Given the description of an element on the screen output the (x, y) to click on. 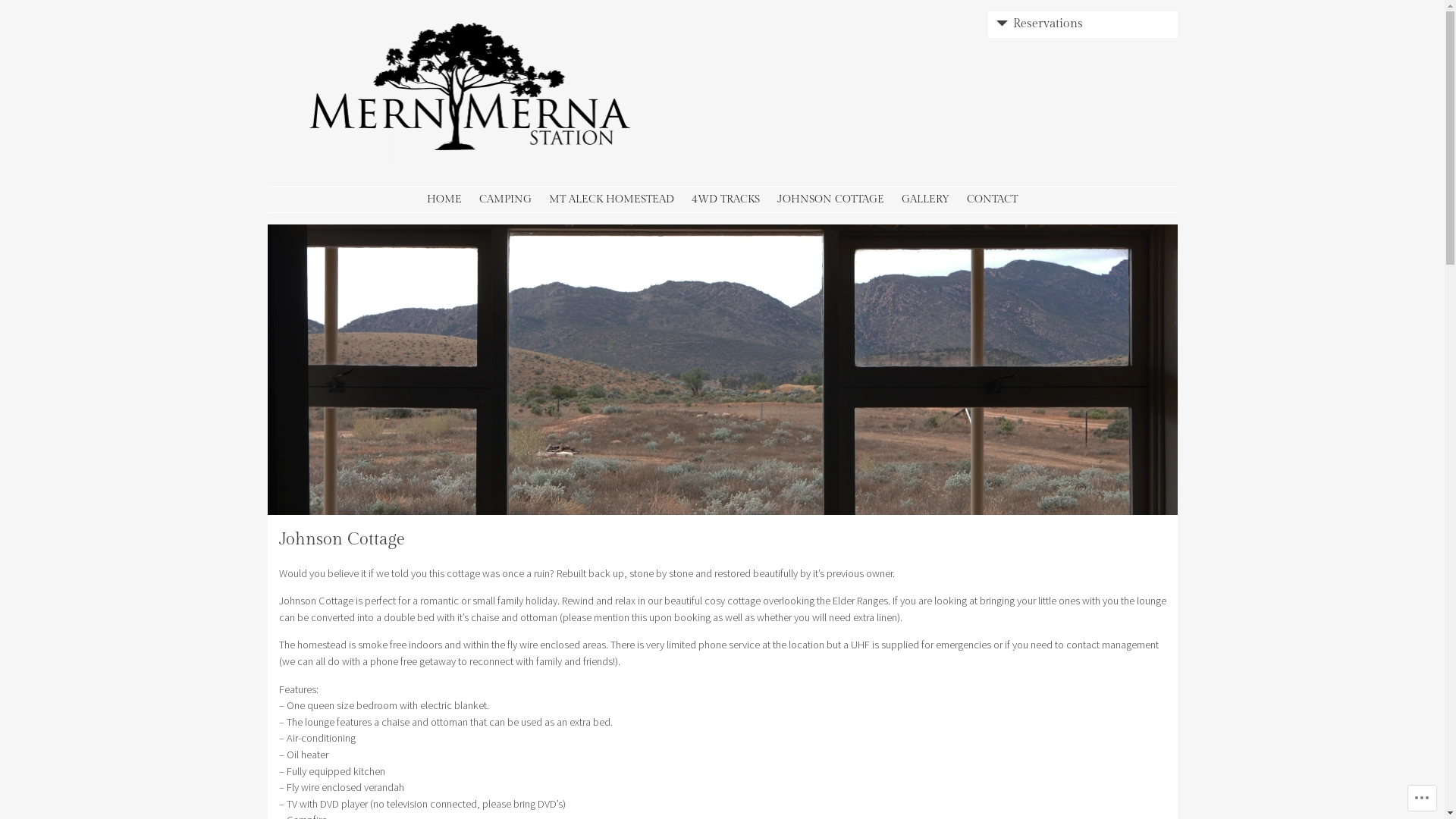
GALLERY Element type: text (925, 199)
HOME Element type: text (444, 199)
CAMPING Element type: text (505, 199)
CONTACT Element type: text (992, 199)
SKIP TO CONTENT Element type: text (321, 199)
MT ALECK HOMESTEAD Element type: text (611, 199)
MERN MERNA STATION Element type: text (373, 183)
4WD TRACKS Element type: text (725, 199)
JOHNSON COTTAGE Element type: text (830, 199)
